Given the description of an element on the screen output the (x, y) to click on. 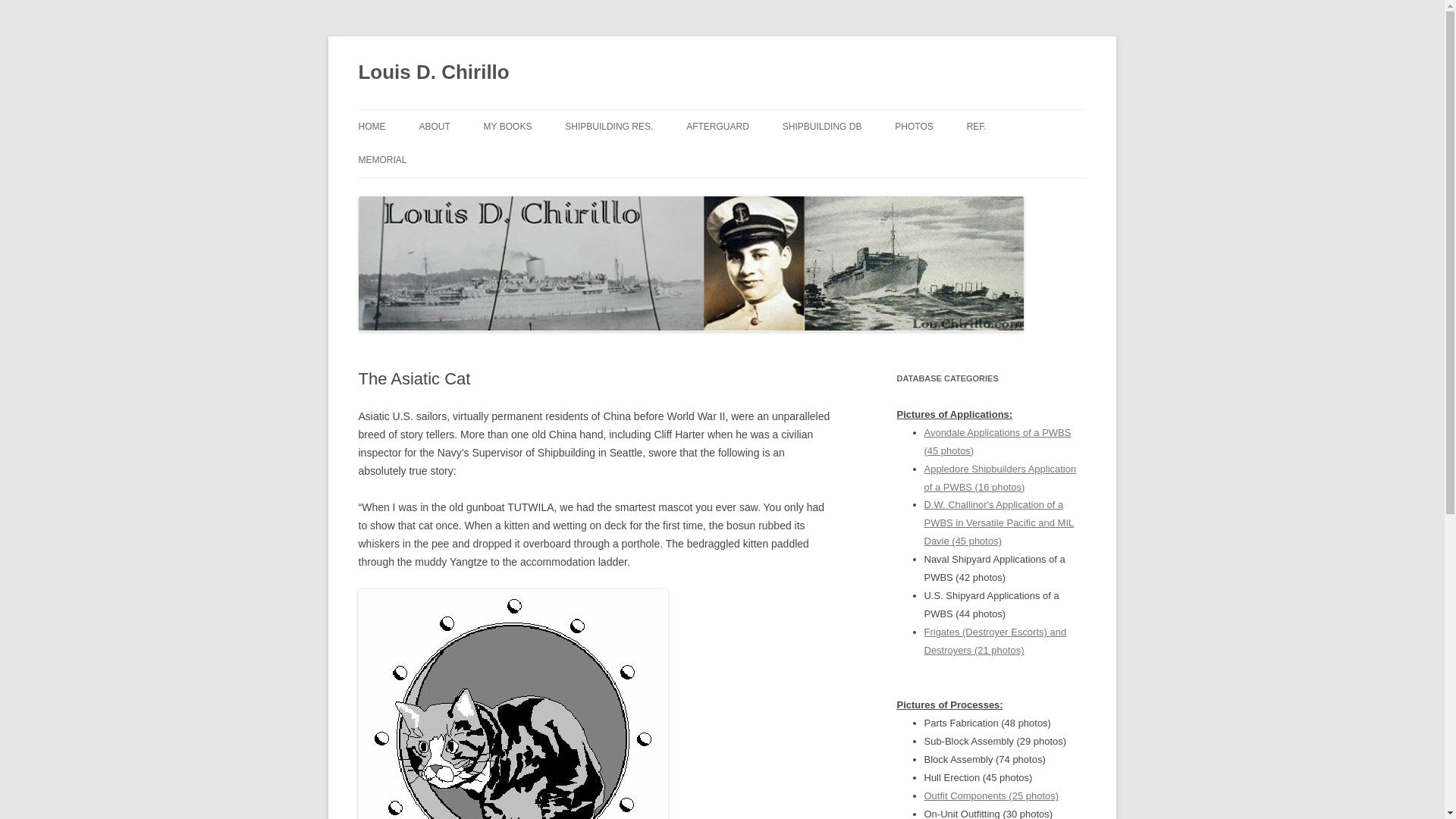
MEMORIAL (382, 159)
I KNEW A LAD (558, 158)
ABOUT (434, 126)
AFTERGUARD (717, 126)
Louis D. Chirillo (433, 72)
MY BOOKS (507, 126)
SHIPBUILDING DB (822, 126)
PHOTOS (914, 126)
SHIPBUILDING RES. (608, 126)
